Given the description of an element on the screen output the (x, y) to click on. 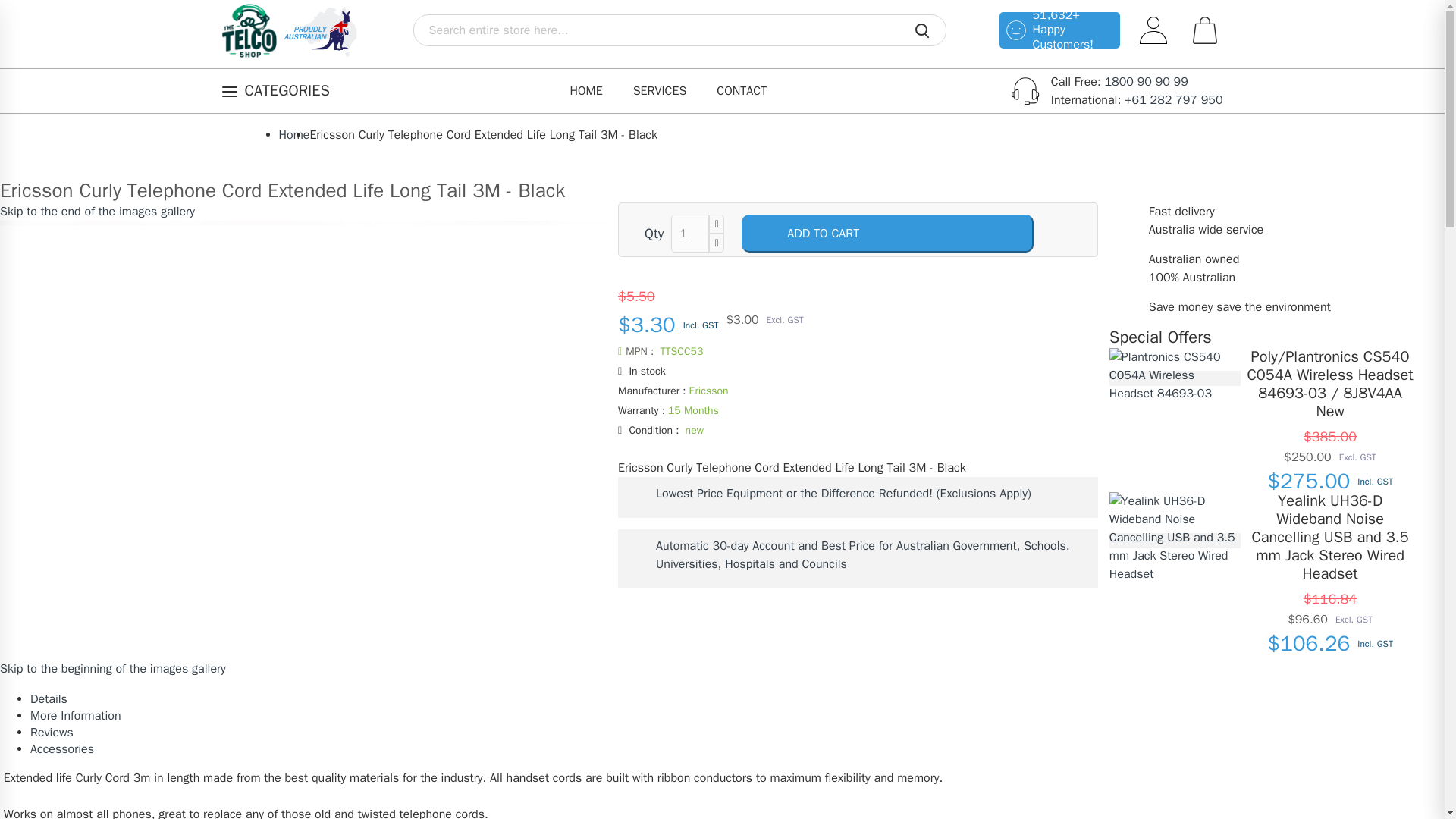
1 (690, 233)
Availability (857, 371)
Qty (690, 233)
Home (294, 134)
Go to Home Page (294, 134)
Add to Cart (887, 233)
HOME (586, 90)
CONTACT (741, 90)
Search (921, 33)
Skip to the beginning of the images gallery (112, 668)
1800 90 90 99 (1145, 81)
Skip to the end of the images gallery (97, 211)
ADD TO CART (887, 233)
